Given the description of an element on the screen output the (x, y) to click on. 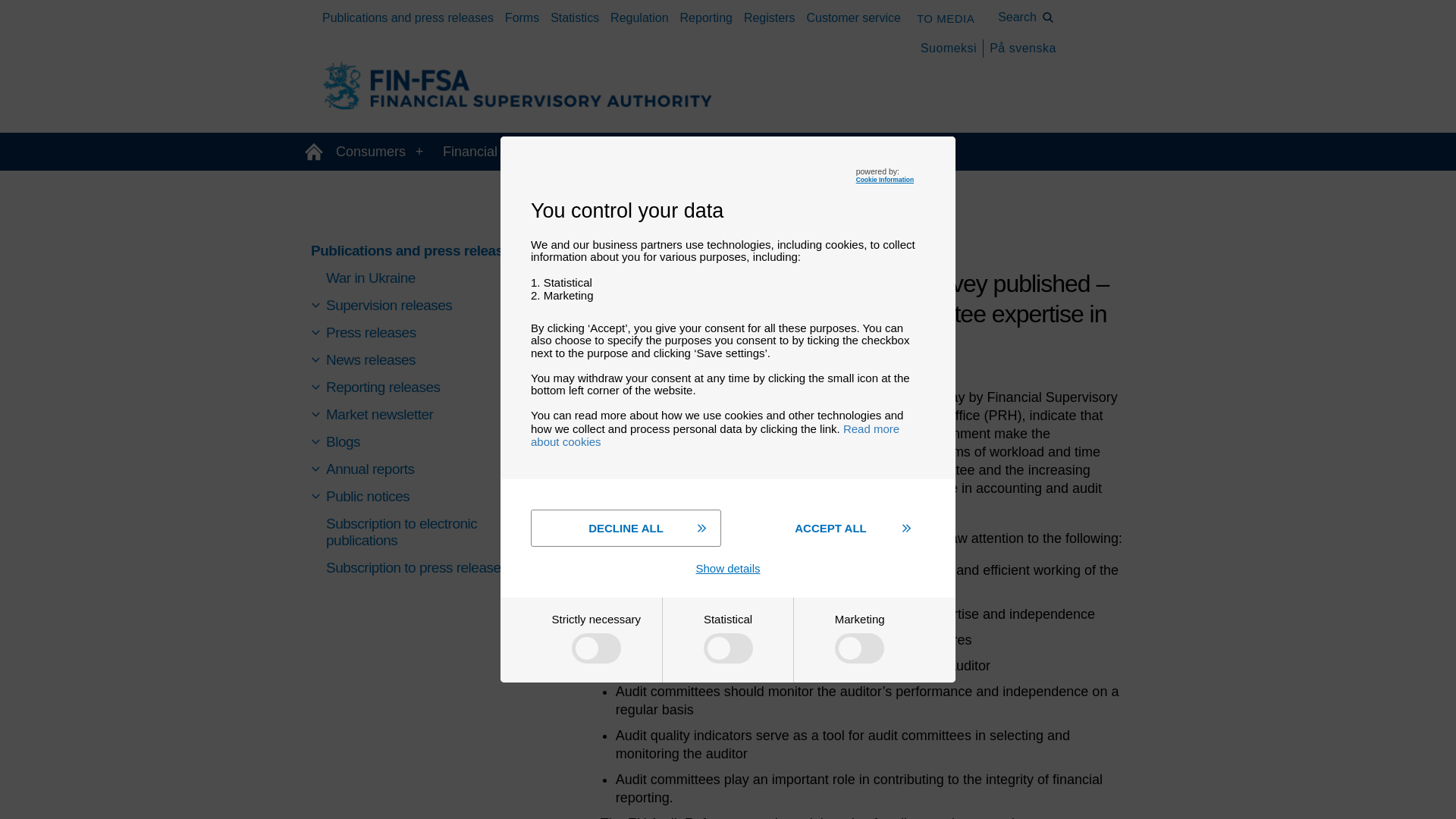
ACCEPT ALL (830, 528)
Show details (727, 567)
DECLINE ALL (625, 528)
Search (1026, 17)
Cookie Information (885, 179)
Read more about cookies (715, 435)
